Given the description of an element on the screen output the (x, y) to click on. 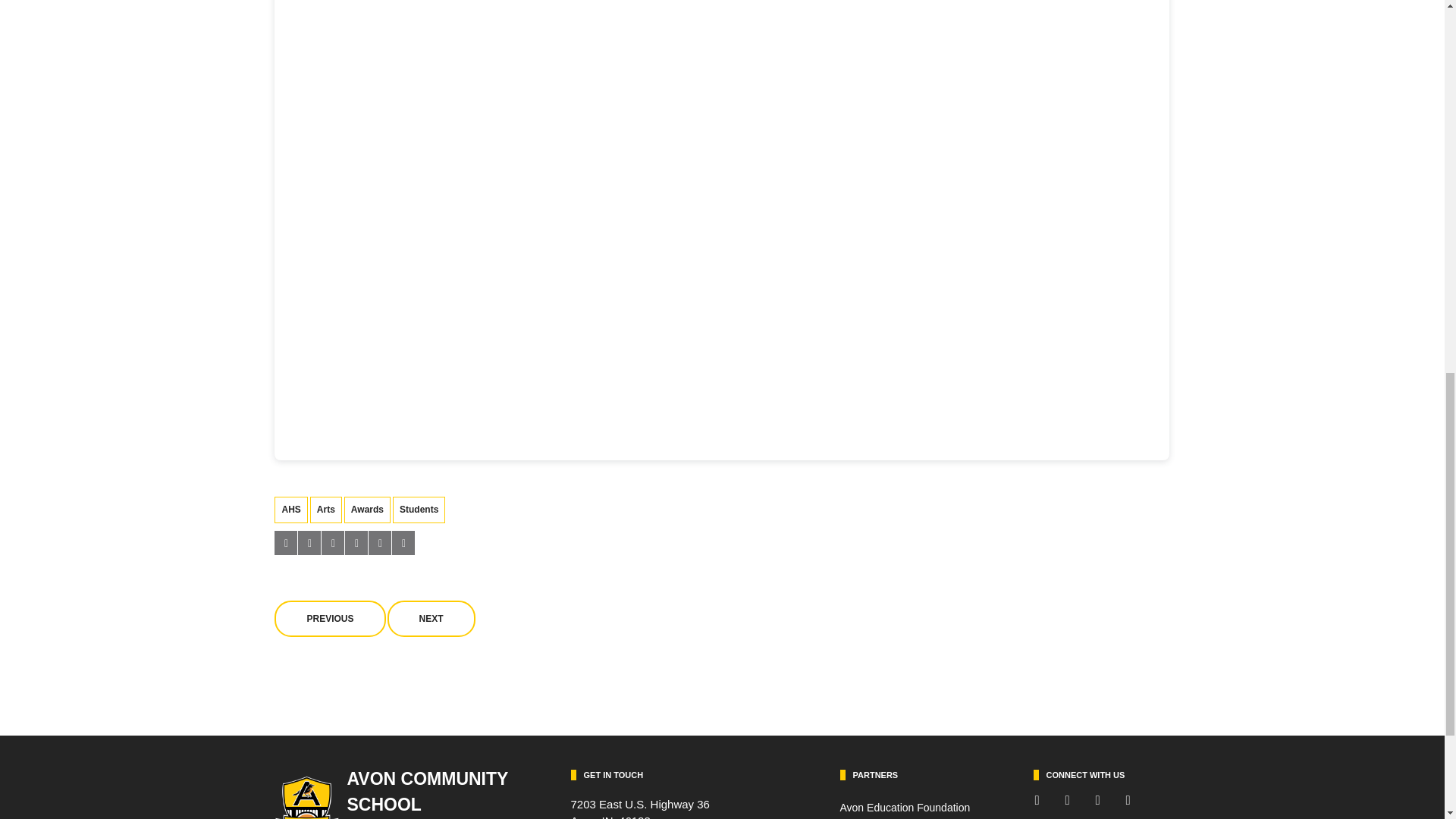
Share to LinkedIn (332, 542)
Share to Pinterest (356, 542)
Share to Twitter (309, 542)
Share to Facebook (286, 542)
Share to Email (379, 542)
Print this page (402, 542)
